Given the description of an element on the screen output the (x, y) to click on. 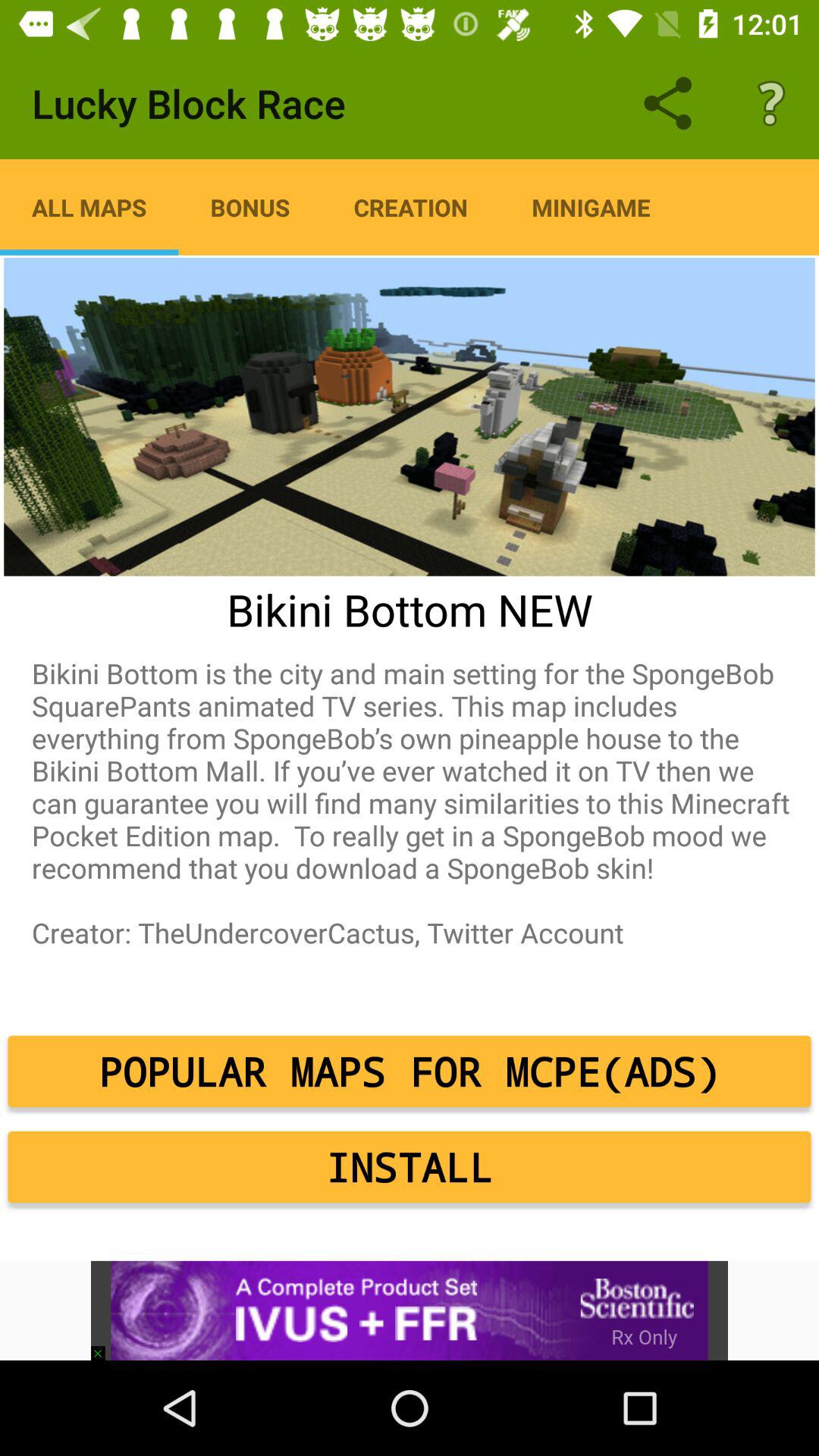
flip to the install (409, 1166)
